Given the description of an element on the screen output the (x, y) to click on. 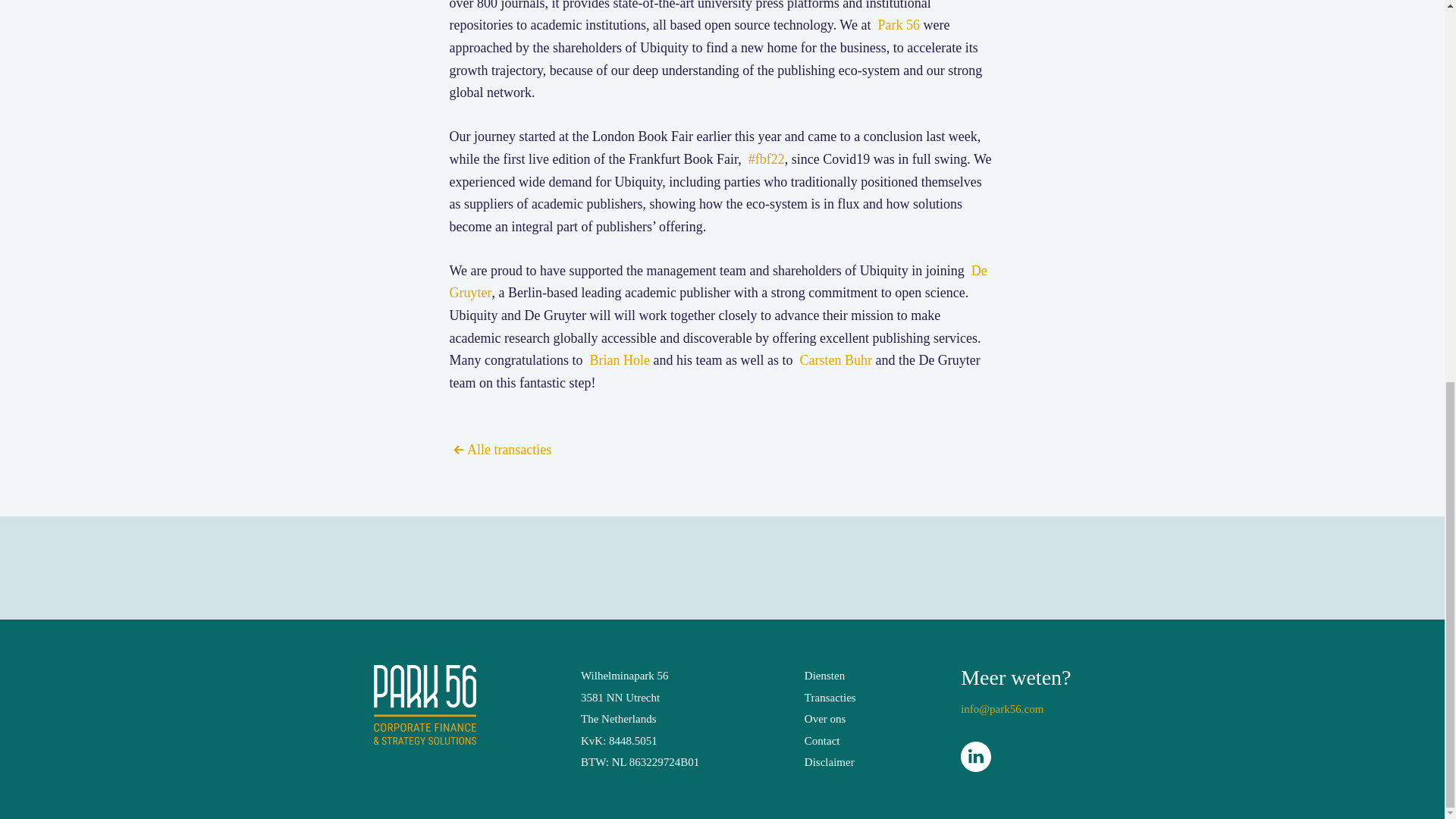
Disclaimer (829, 761)
Diensten (824, 675)
Contact (822, 740)
Alle transacties (499, 449)
Carsten Buhr (834, 359)
Over ons (825, 718)
De Gruyter (717, 281)
Park 56 (898, 24)
Transacties (830, 697)
Brian Hole (619, 359)
